Given the description of an element on the screen output the (x, y) to click on. 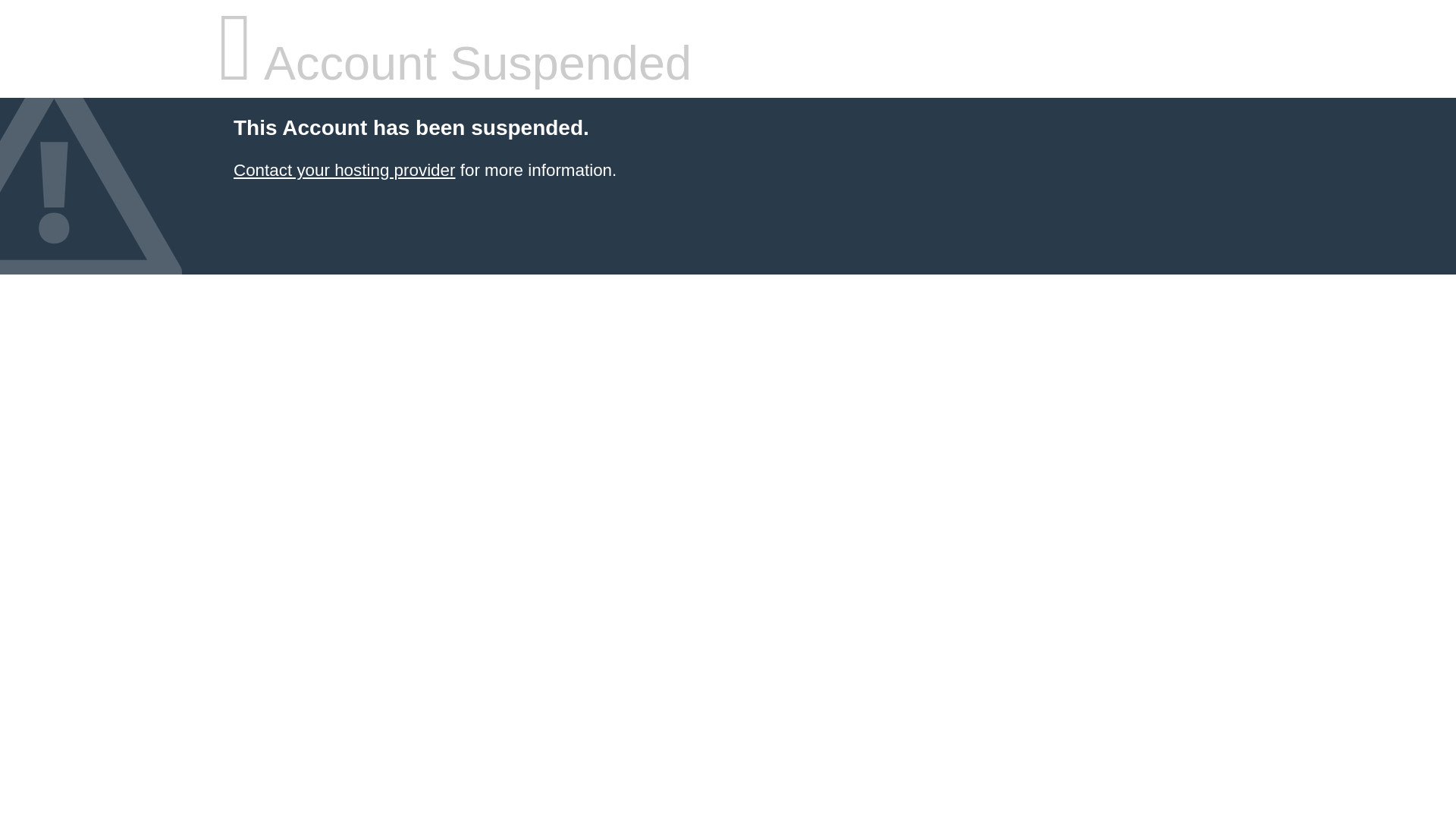
Contact your hosting provider (343, 169)
